Given the description of an element on the screen output the (x, y) to click on. 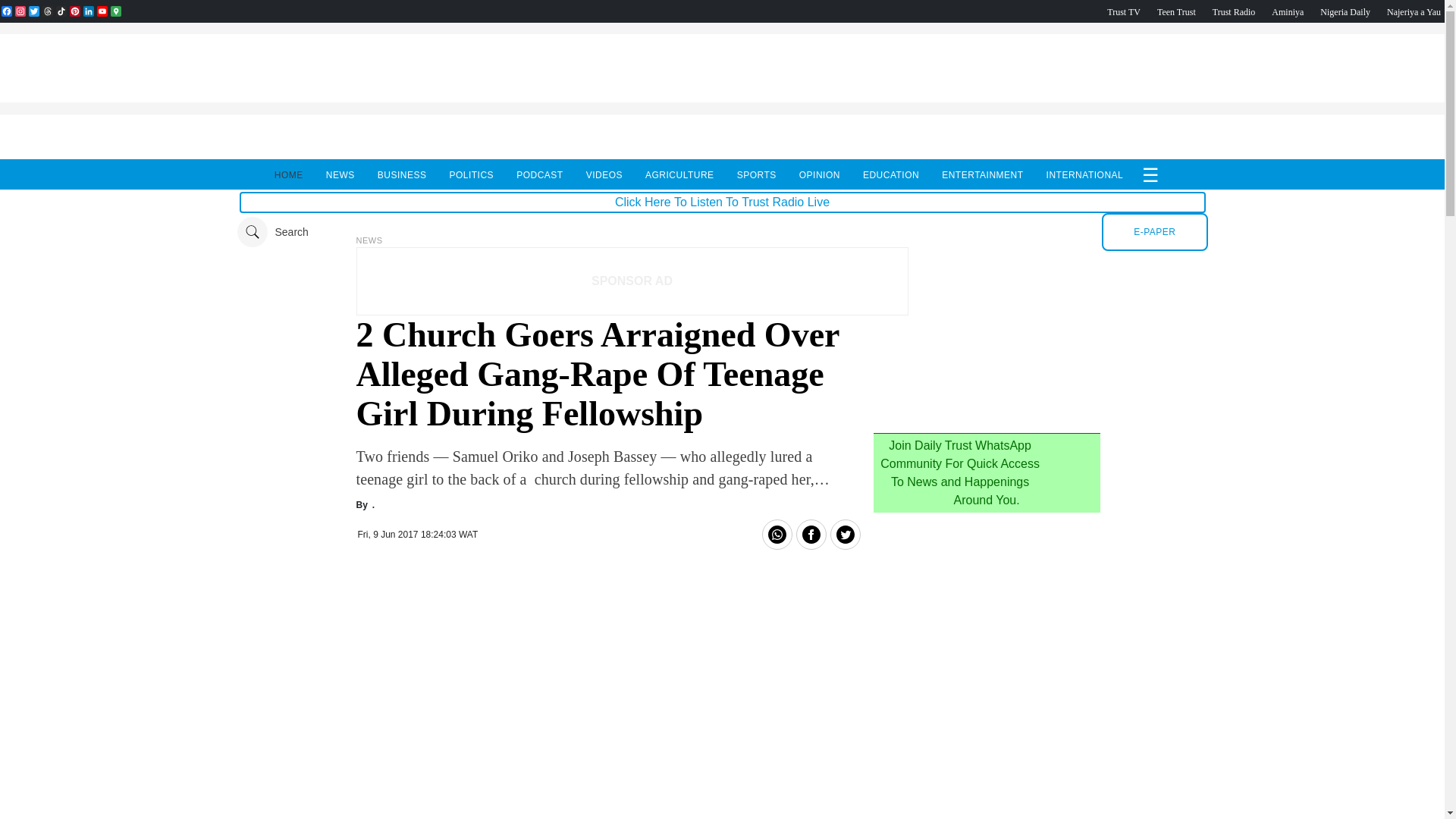
Twitter (33, 10)
Teen Trust (1176, 11)
Trust TV (1123, 11)
HOME (288, 174)
Aminiya (1287, 11)
Mitsubishi (986, 415)
Search (271, 232)
Dailytrust (722, 231)
Pinterest (74, 10)
Trust Radio (1233, 11)
